Given the description of an element on the screen output the (x, y) to click on. 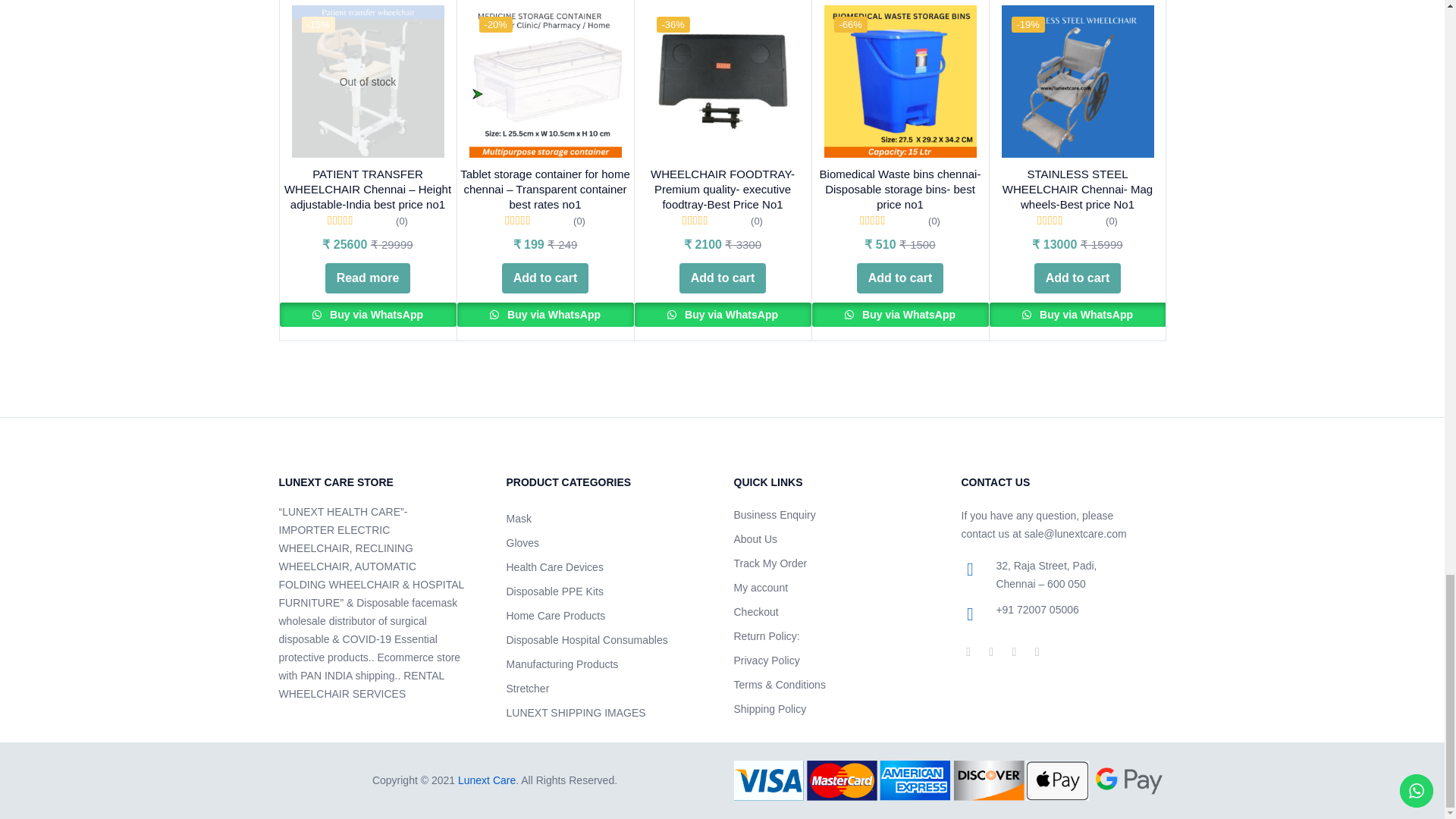
Add to cart (545, 278)
Read more (367, 278)
